Given the description of an element on the screen output the (x, y) to click on. 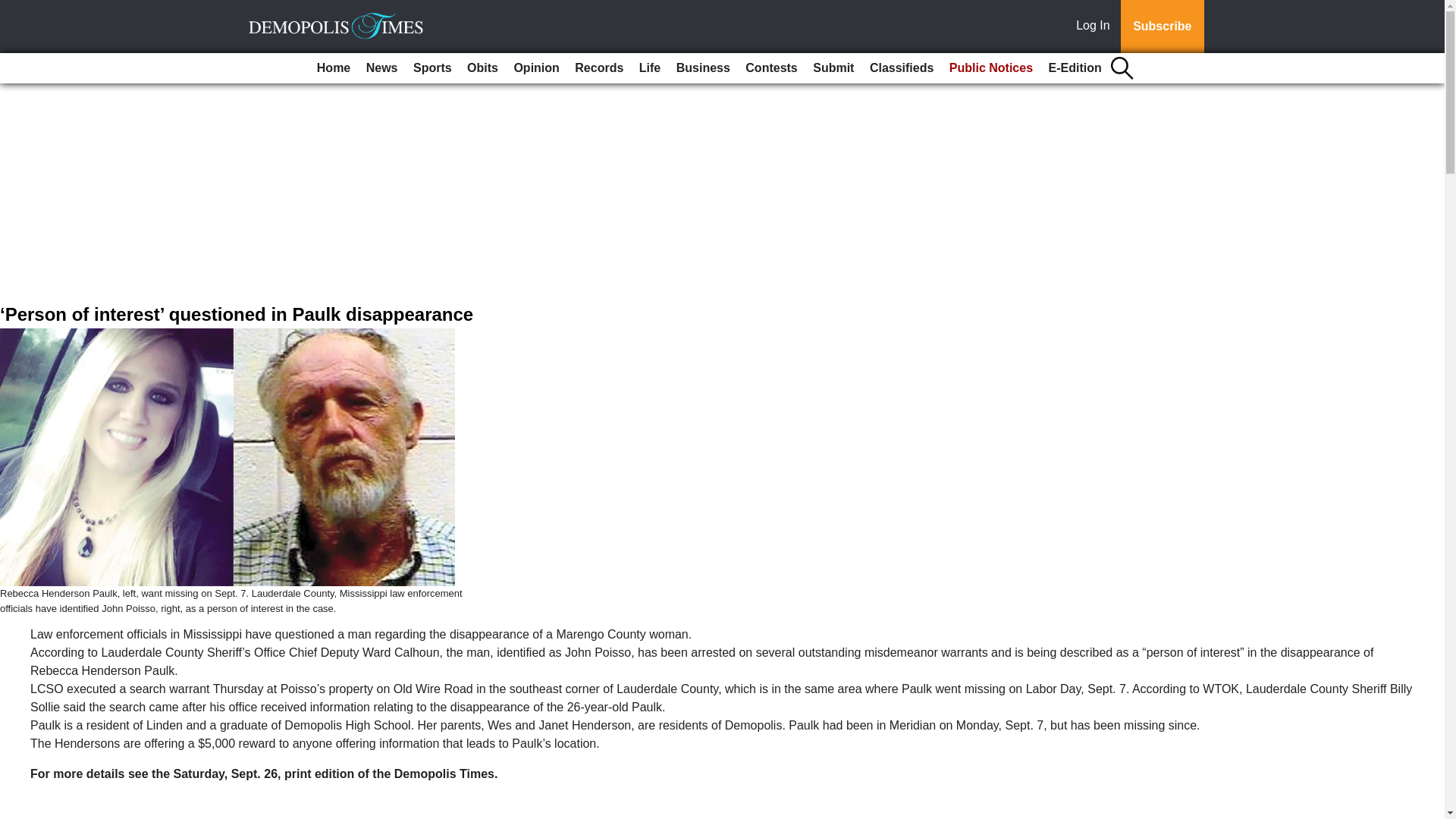
Submit (833, 68)
Log In (1095, 26)
Public Notices (991, 68)
Life (649, 68)
Sports (432, 68)
Records (598, 68)
Home (333, 68)
Opinion (535, 68)
Contests (771, 68)
News (381, 68)
Classifieds (901, 68)
Obits (482, 68)
Business (702, 68)
Go (13, 9)
E-Edition (1075, 68)
